Given the description of an element on the screen output the (x, y) to click on. 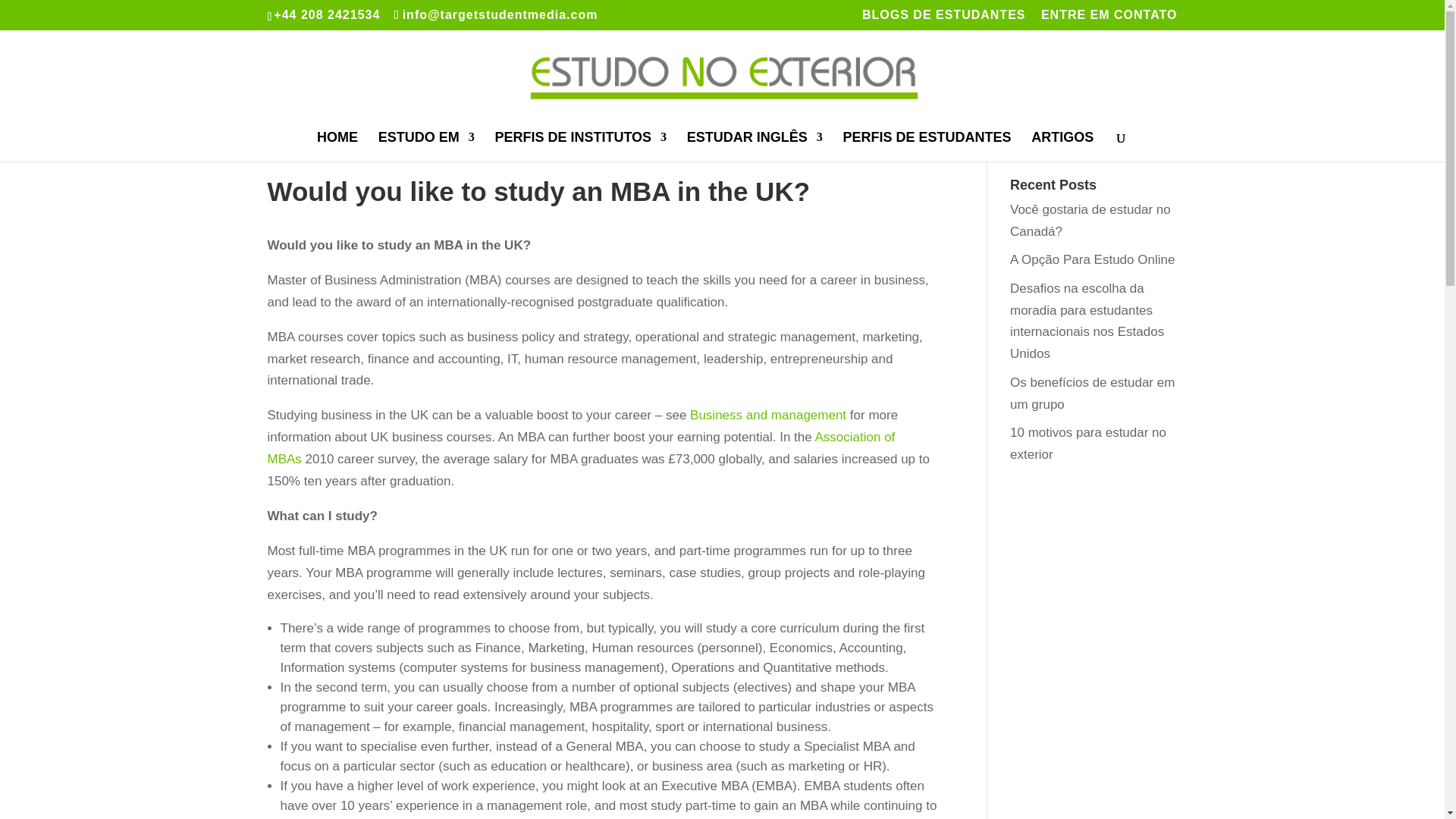
ESTUDO EM (426, 146)
Association of MBAs (580, 447)
ENTRE EM CONTATO (1109, 19)
BLOGS DE ESTUDANTES (943, 19)
PERFIS DE INSTITUTOS (580, 146)
PERFIS DE ESTUDANTES (927, 146)
Business and management (767, 414)
HOME (337, 146)
ARTIGOS (1061, 146)
